Given the description of an element on the screen output the (x, y) to click on. 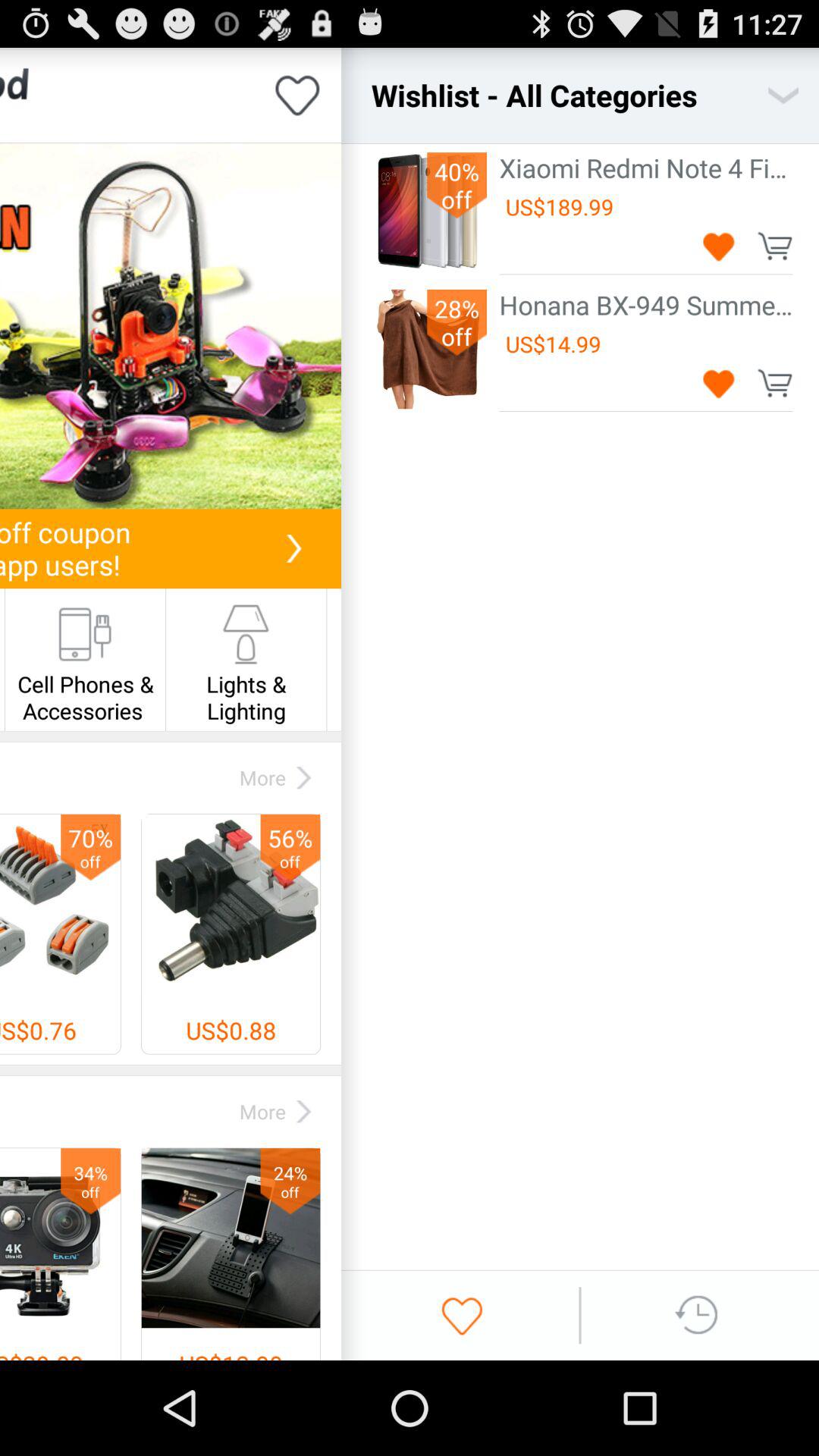
favorite the product (719, 382)
